Given the description of an element on the screen output the (x, y) to click on. 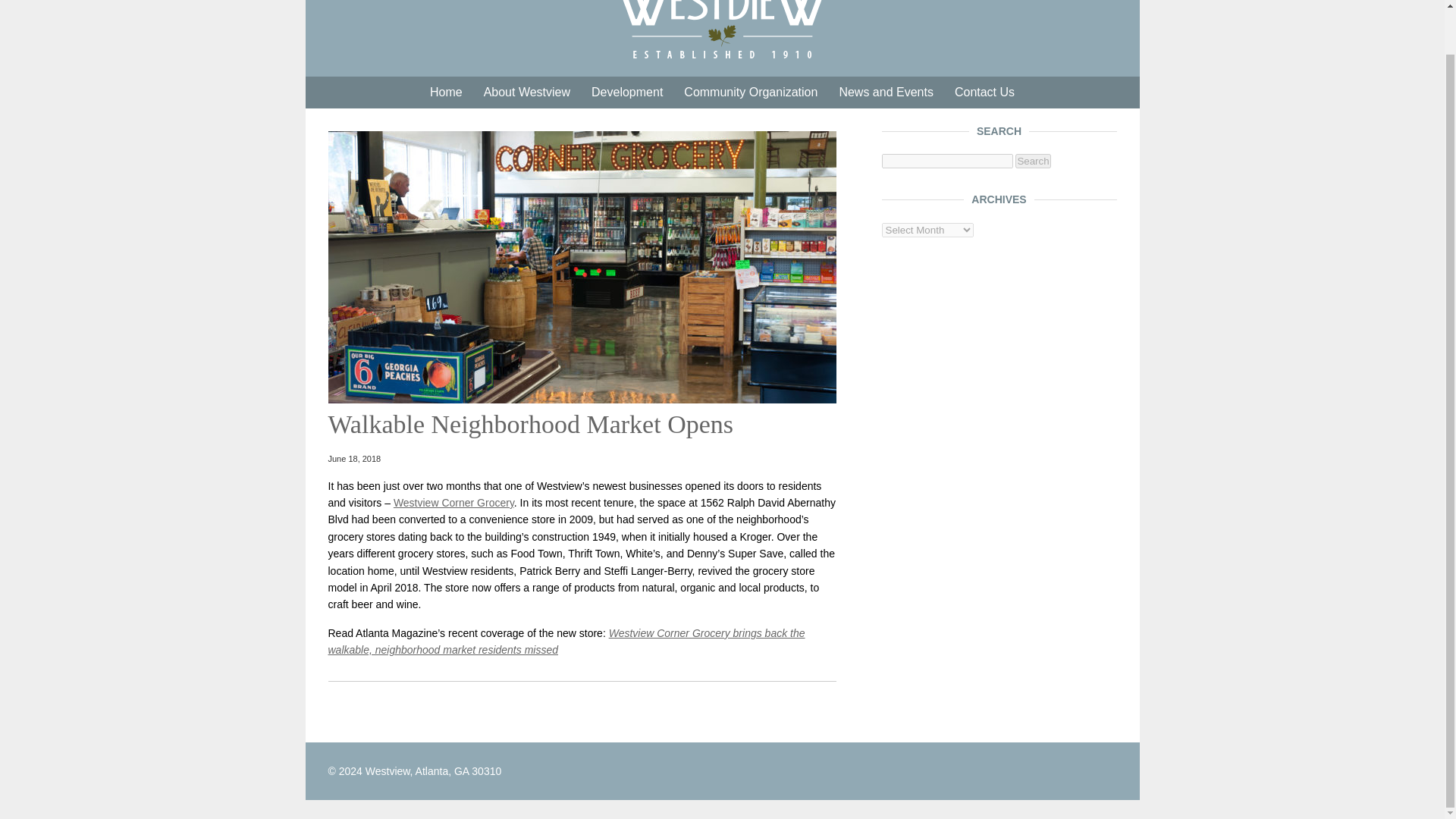
Walkable Neighborhood Market Opens (581, 399)
Westview Corner Grocery (453, 502)
Walkable Neighborhood Market Opens (530, 424)
Home (446, 92)
Development (626, 92)
Westview Atlanta (721, 30)
Permalink to Walkable Neighborhood Market Opens (530, 424)
About Westview (526, 92)
News and Events (885, 92)
